Given the description of an element on the screen output the (x, y) to click on. 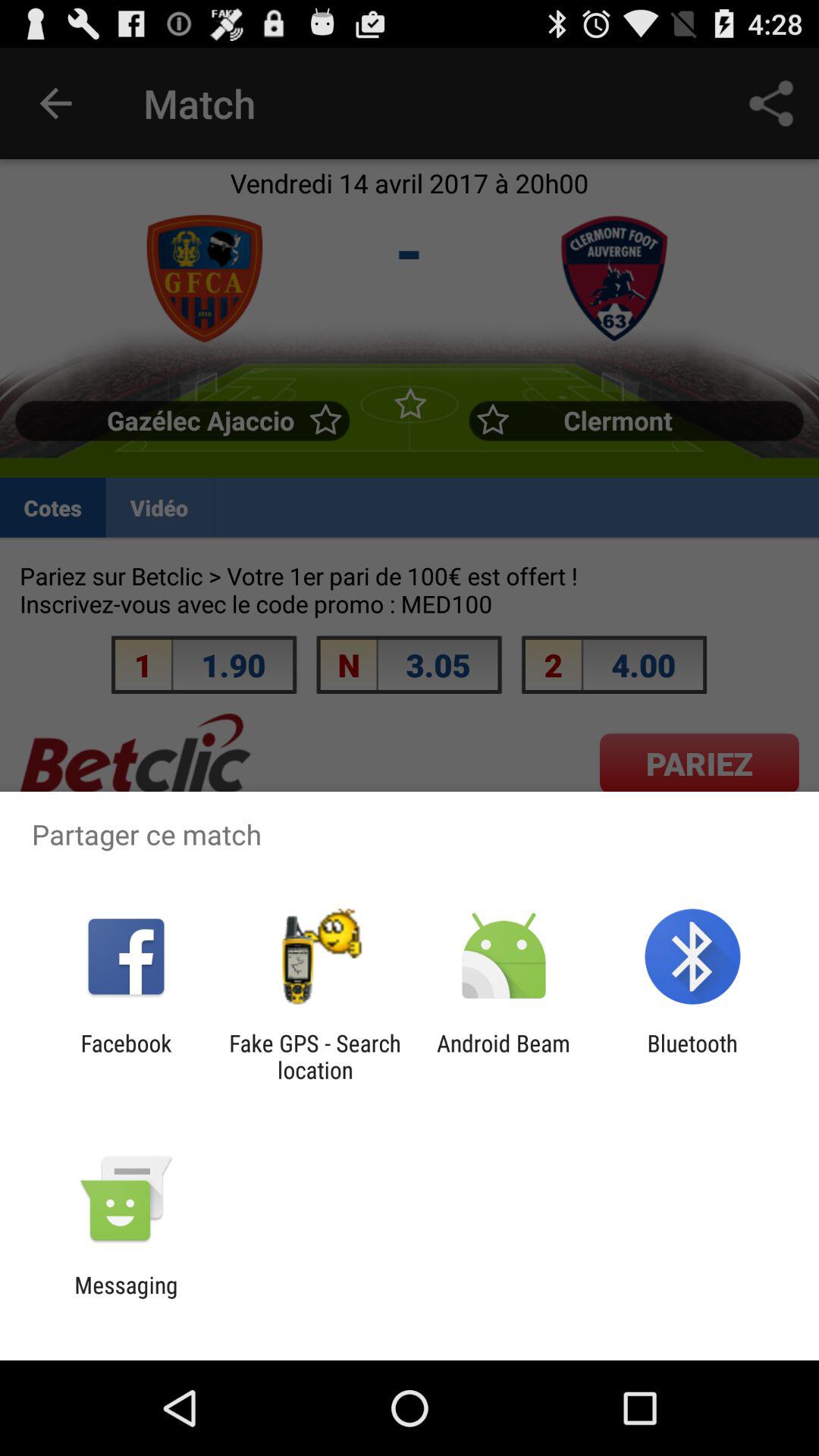
swipe until the messaging item (126, 1298)
